Given the description of an element on the screen output the (x, y) to click on. 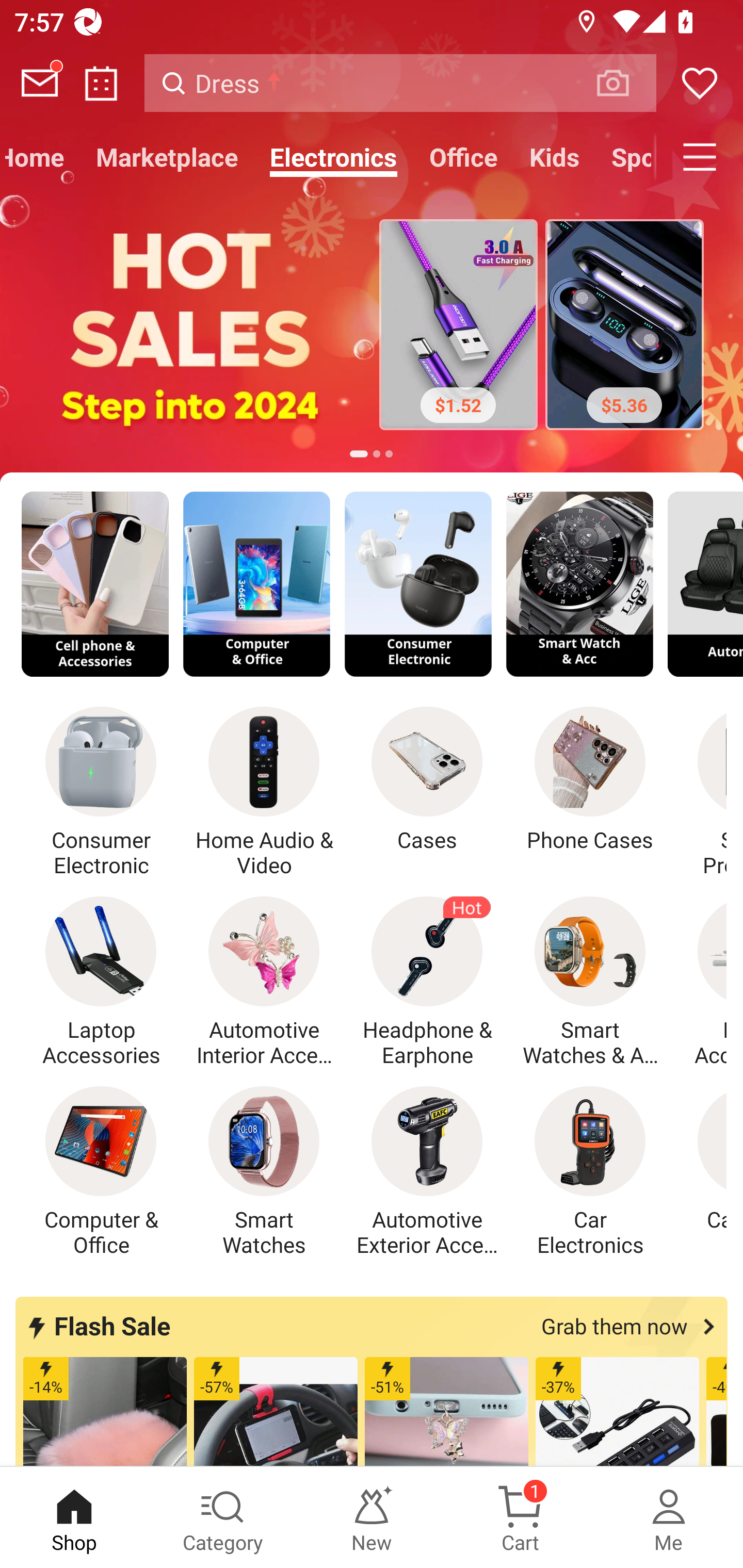
Wishlist (699, 82)
VISUAL SEARCH (623, 82)
Home (40, 156)
Marketplace (167, 156)
Electronics (333, 156)
Office (463, 156)
Kids (554, 156)
Sports (625, 156)
$1.52 $5.36 (371, 327)
Category (222, 1517)
New (371, 1517)
Cart 1 Cart (519, 1517)
Me (668, 1517)
